Given the description of an element on the screen output the (x, y) to click on. 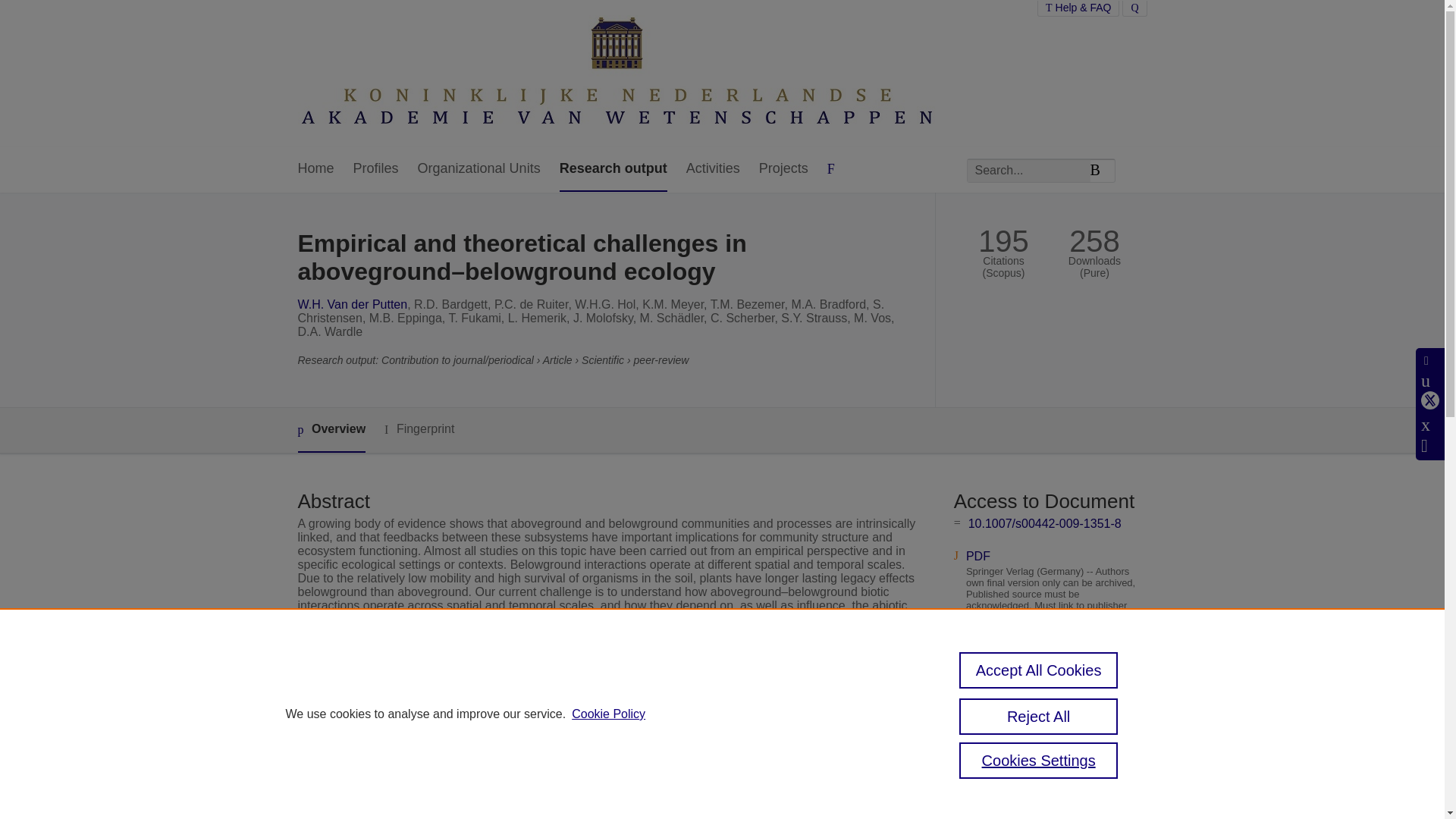
PDF (978, 555)
W.H. Van der Putten (352, 304)
Research output (612, 169)
Fingerprint (419, 429)
Activities (712, 169)
Profiles (375, 169)
Organizational Units (478, 169)
Overview (331, 429)
Projects (783, 169)
